Given the description of an element on the screen output the (x, y) to click on. 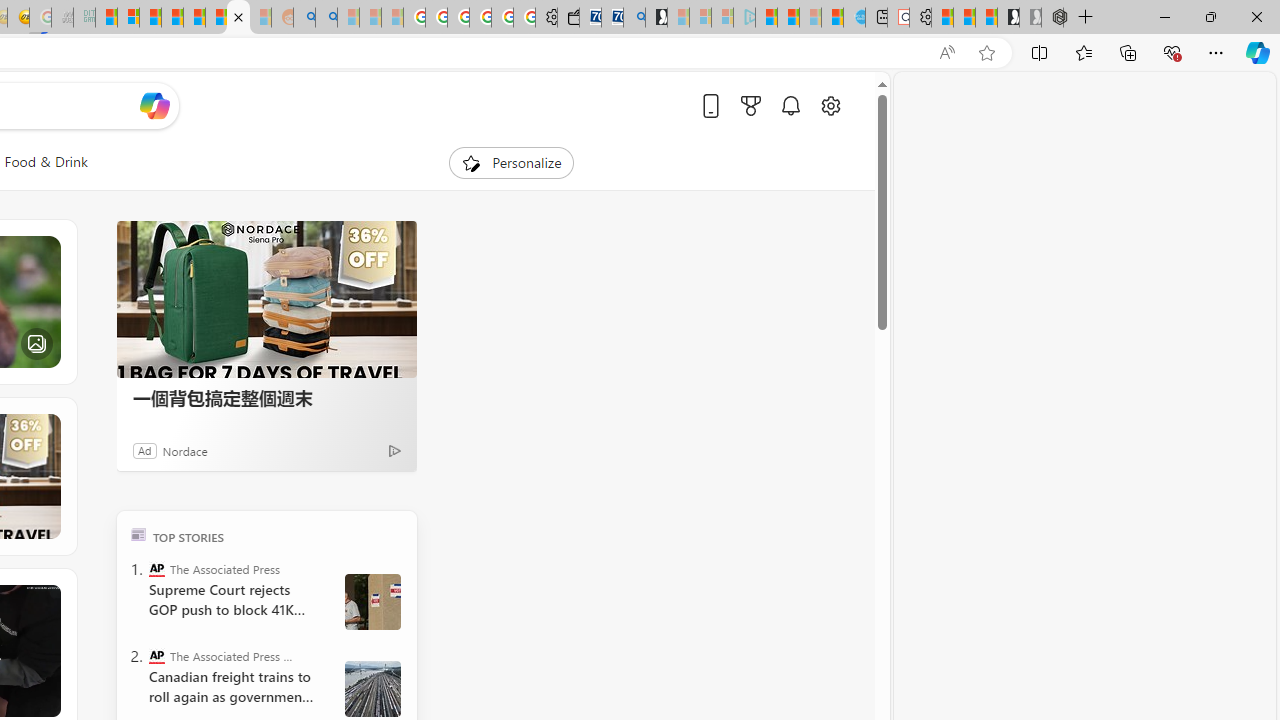
Browser essentials (1171, 52)
Read aloud this page (Ctrl+Shift+U) (946, 53)
Open settings (830, 105)
Cheap Car Rentals - Save70.com (612, 17)
The Associated Press (156, 568)
Microsoft Start Gaming (656, 17)
Favorites (1083, 52)
Wallet (568, 17)
Nordace (184, 450)
Microsoft Start - Sleeping (810, 17)
